Given the description of an element on the screen output the (x, y) to click on. 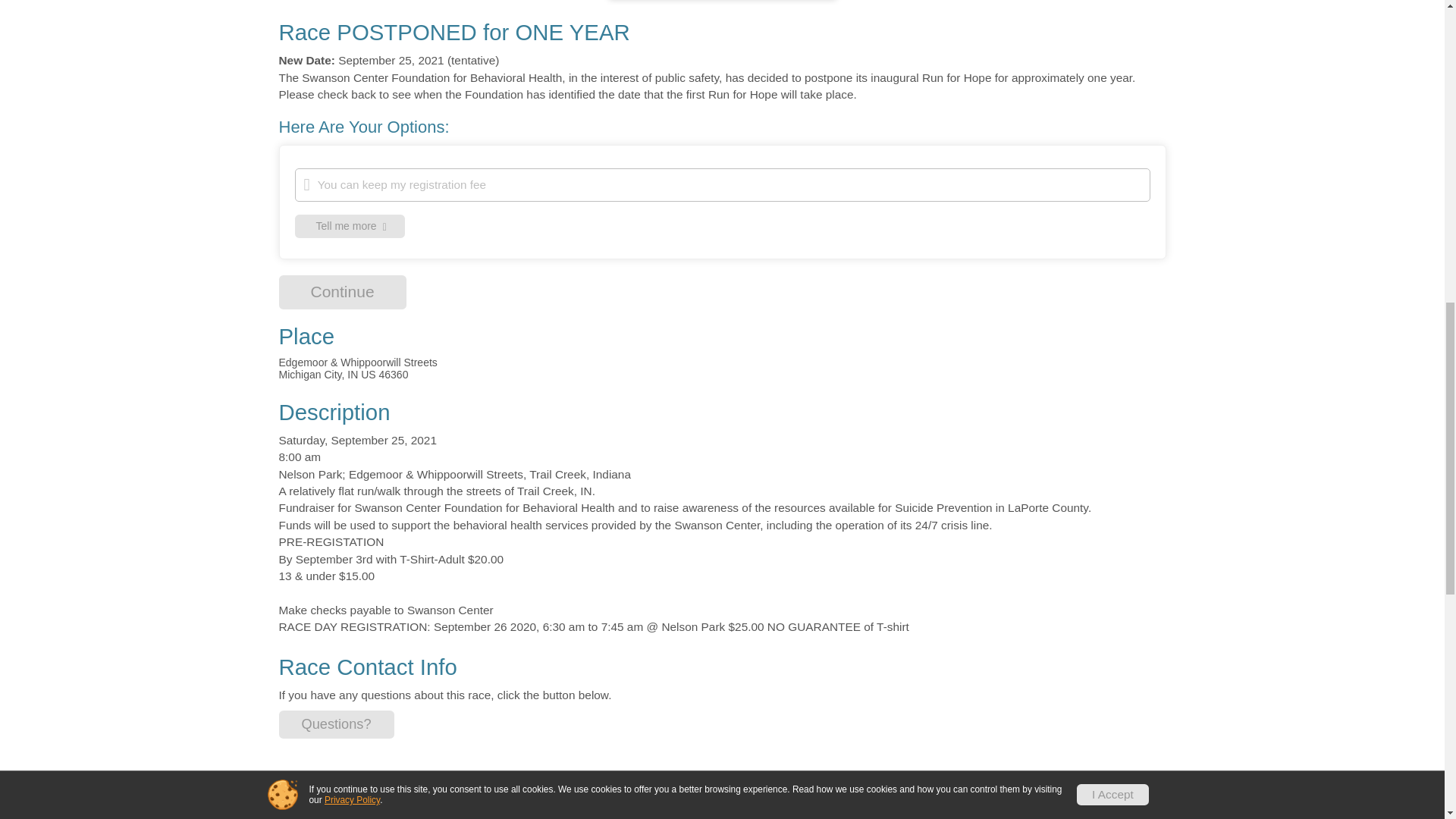
Questions? (336, 724)
Continue (349, 226)
